Given the description of an element on the screen output the (x, y) to click on. 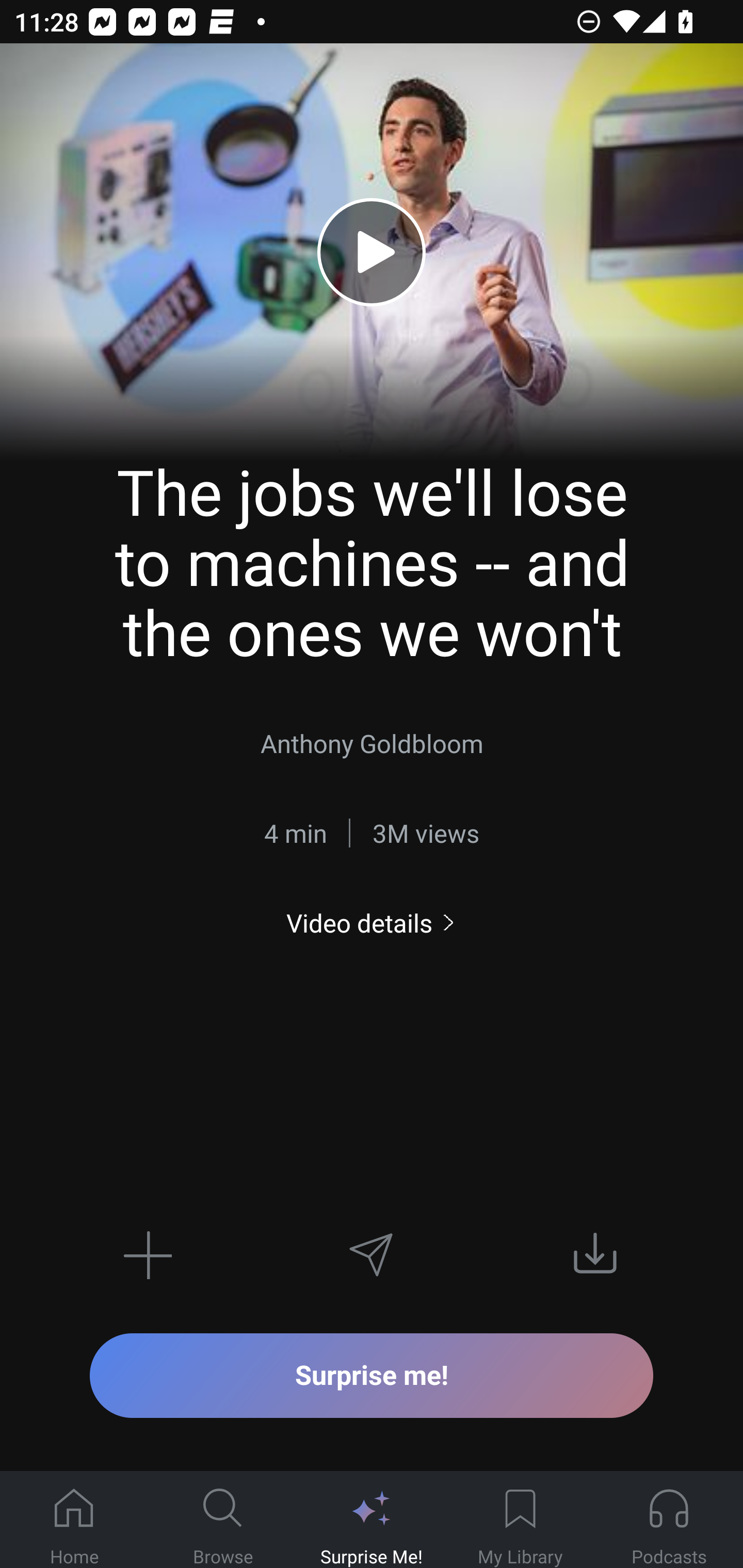
Video details (371, 922)
Surprise me! (371, 1374)
Home (74, 1520)
Browse (222, 1520)
Surprise Me! (371, 1520)
My Library (519, 1520)
Podcasts (668, 1520)
